Given the description of an element on the screen output the (x, y) to click on. 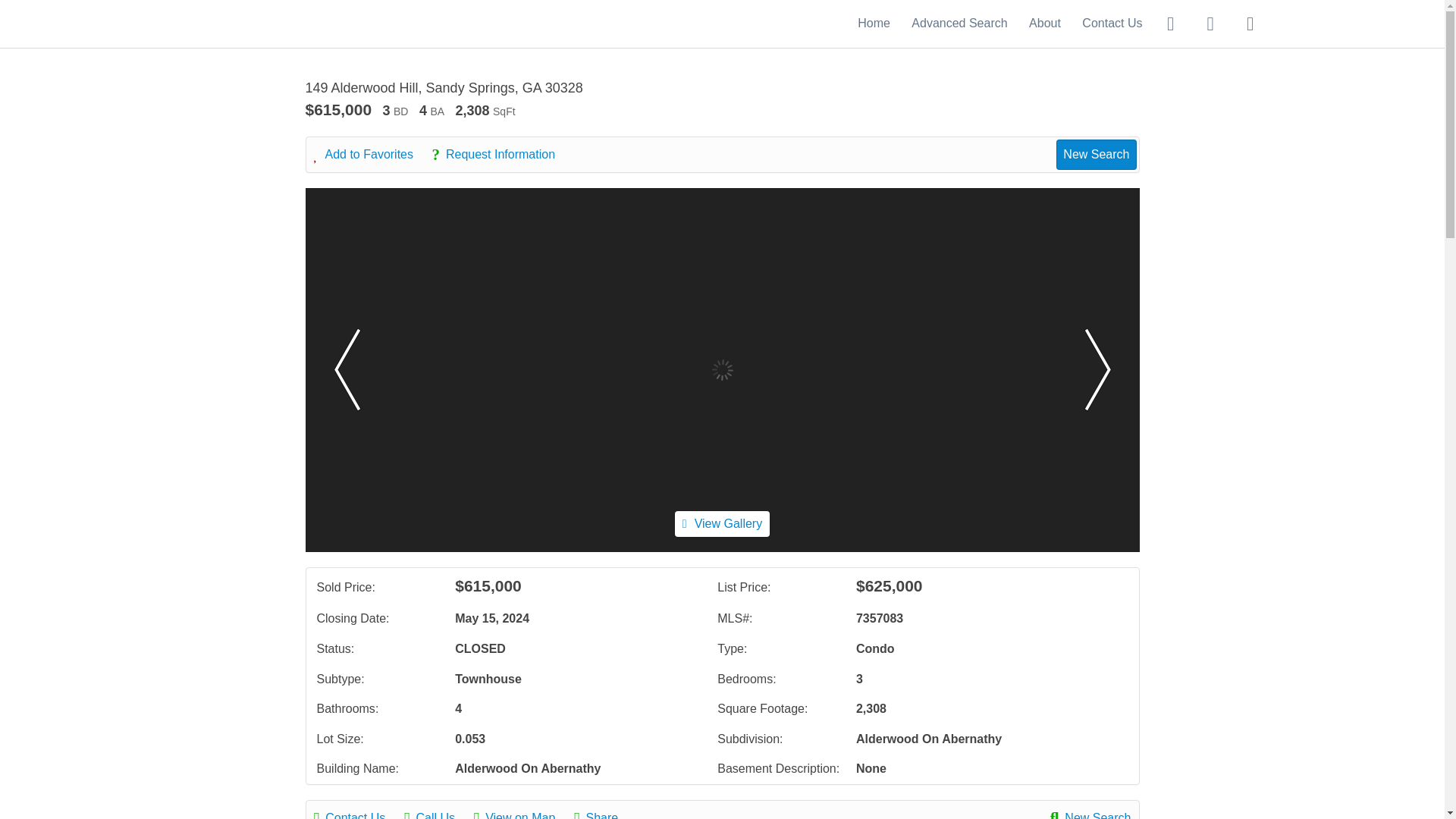
New Search (1090, 812)
Call Us (437, 812)
Home (873, 22)
Request Information (500, 154)
Advanced Search (959, 22)
View Gallery (722, 524)
Share (603, 812)
About (1045, 22)
Add to Favorites (371, 154)
Contact Us (1111, 22)
